Given the description of an element on the screen output the (x, y) to click on. 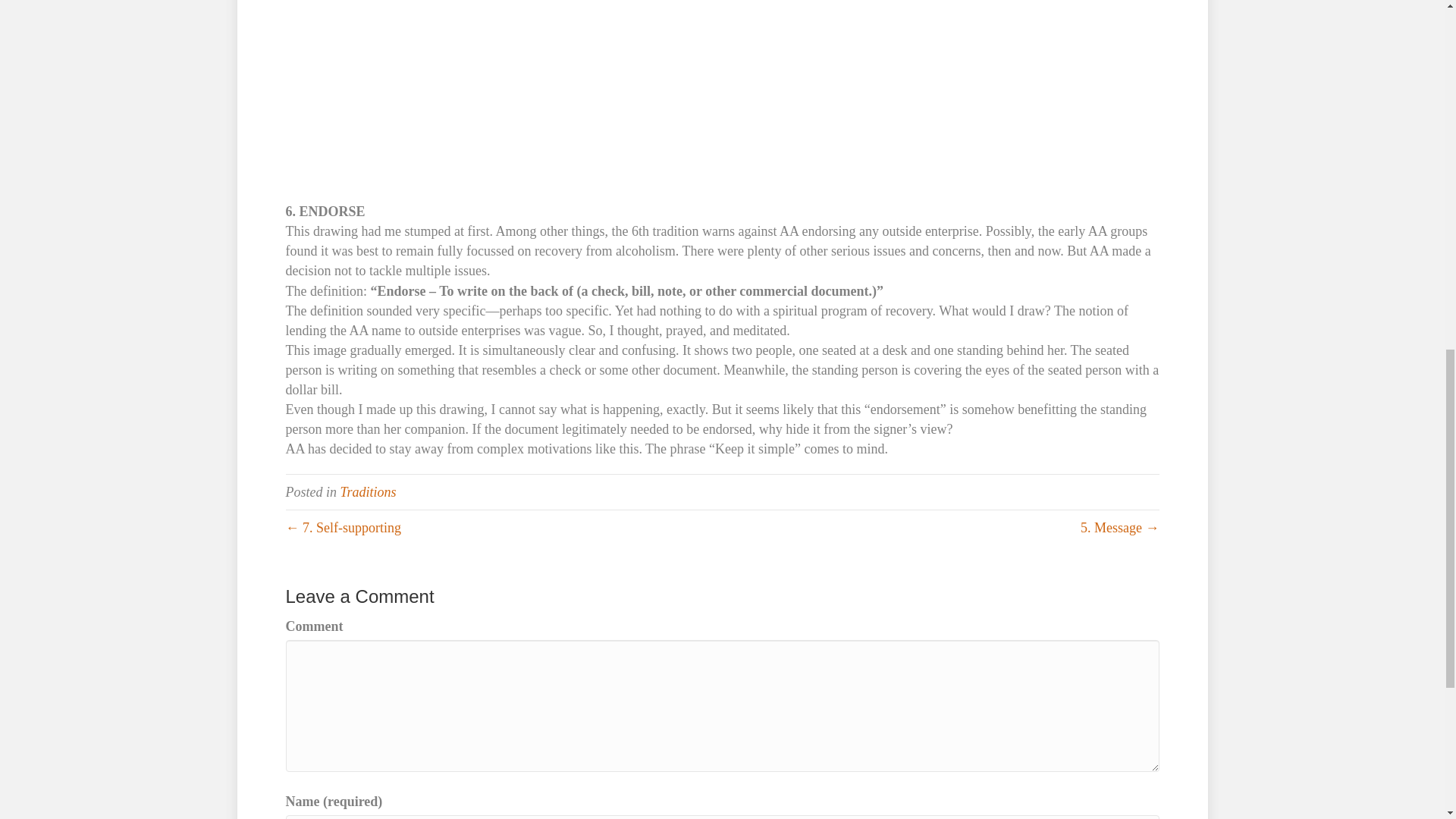
Traditions (367, 491)
